Given the description of an element on the screen output the (x, y) to click on. 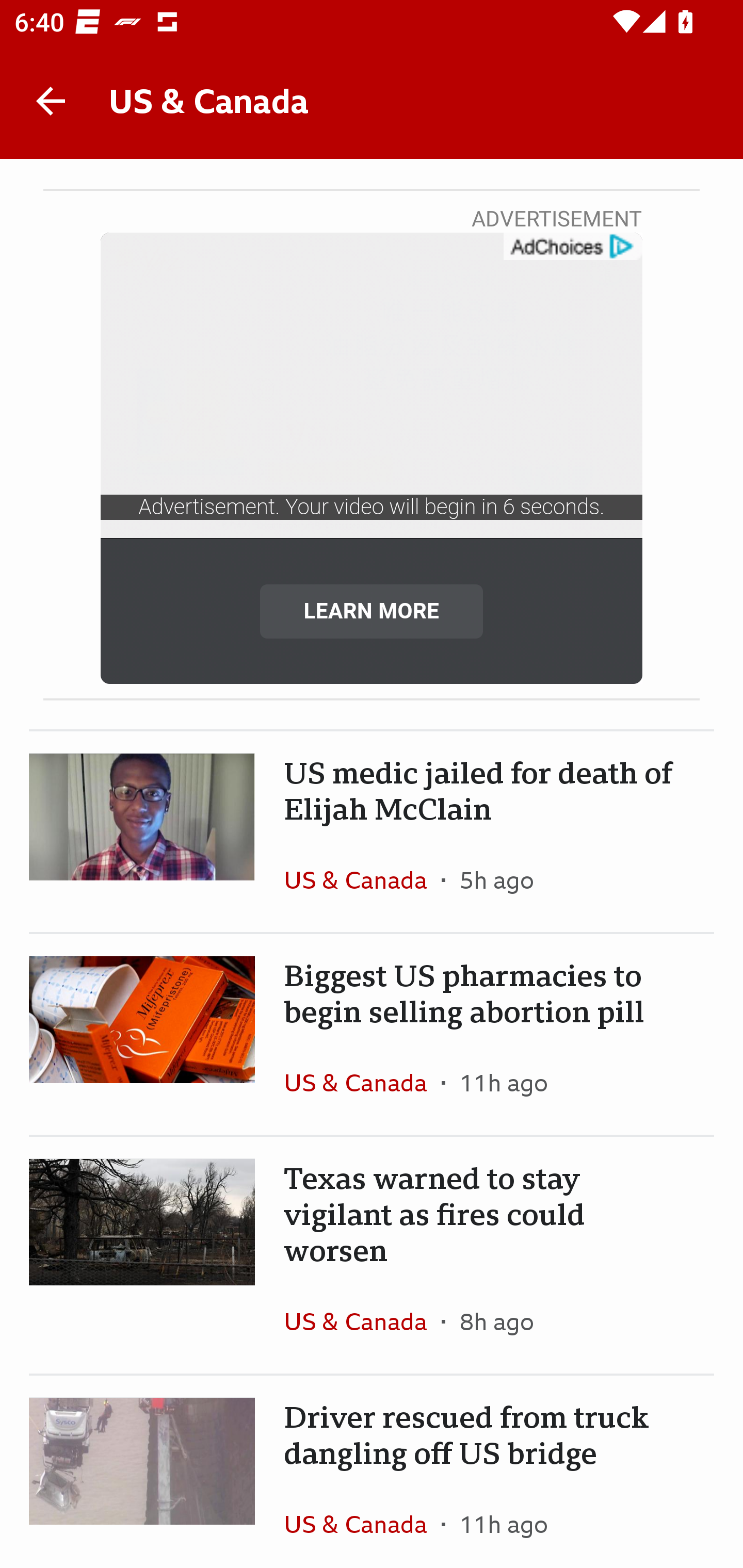
Back (50, 101)
get?name=admarker-full-tl (571, 246)
LEARN MORE (371, 611)
US & Canada In the section US & Canada (362, 879)
US & Canada In the section US & Canada (362, 1082)
US & Canada In the section US & Canada (362, 1321)
US & Canada In the section US & Canada (362, 1520)
